Given the description of an element on the screen output the (x, y) to click on. 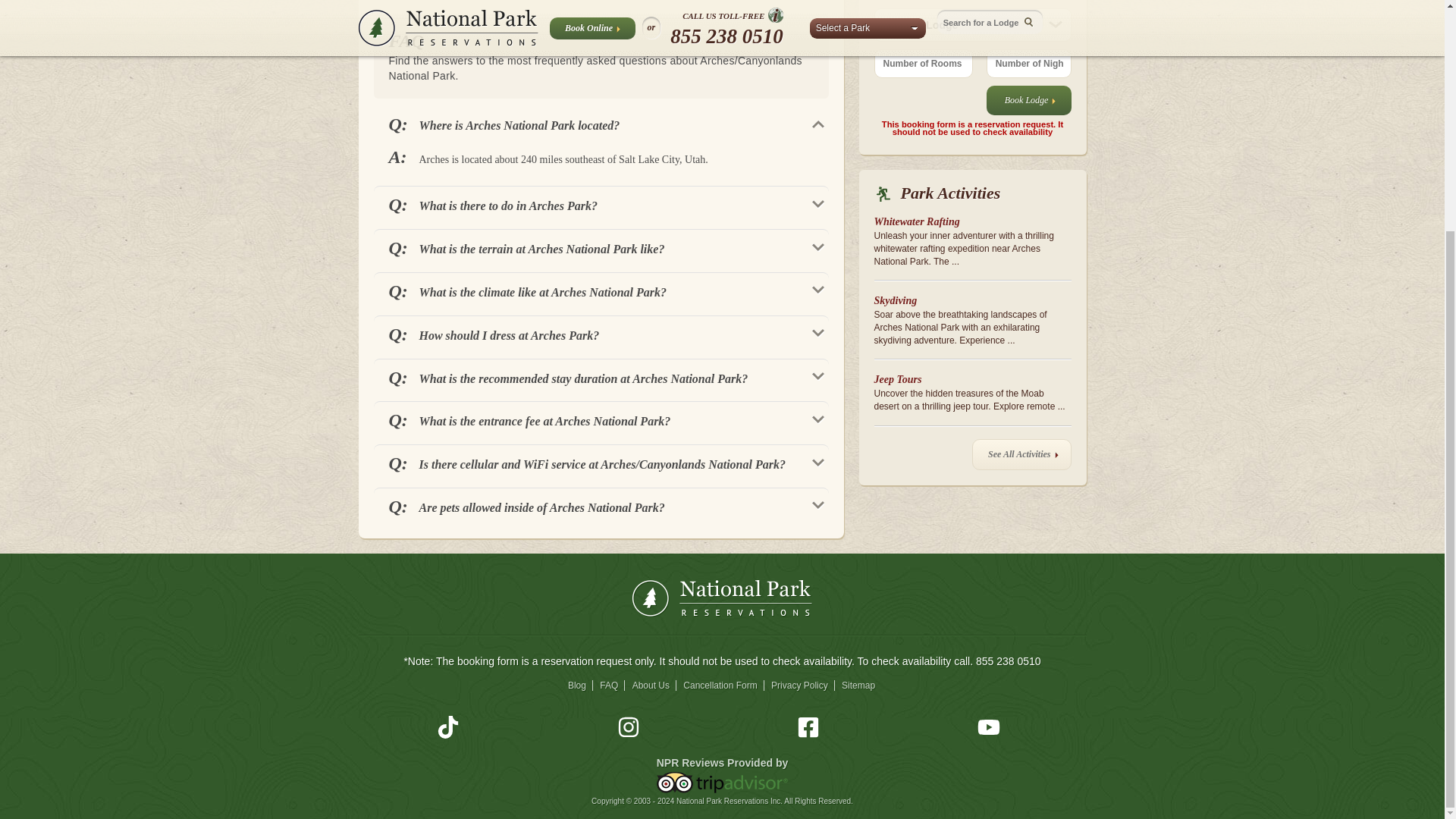
Sitemap (858, 685)
Select a Lodge (971, 24)
Blog (577, 685)
FAQ (609, 685)
See All Activities (1021, 454)
Privacy Policy (800, 685)
Whitewater Rafting (916, 221)
Cancellation Form (720, 685)
Skydiving (895, 300)
Book Lodge (1029, 100)
